Given the description of an element on the screen output the (x, y) to click on. 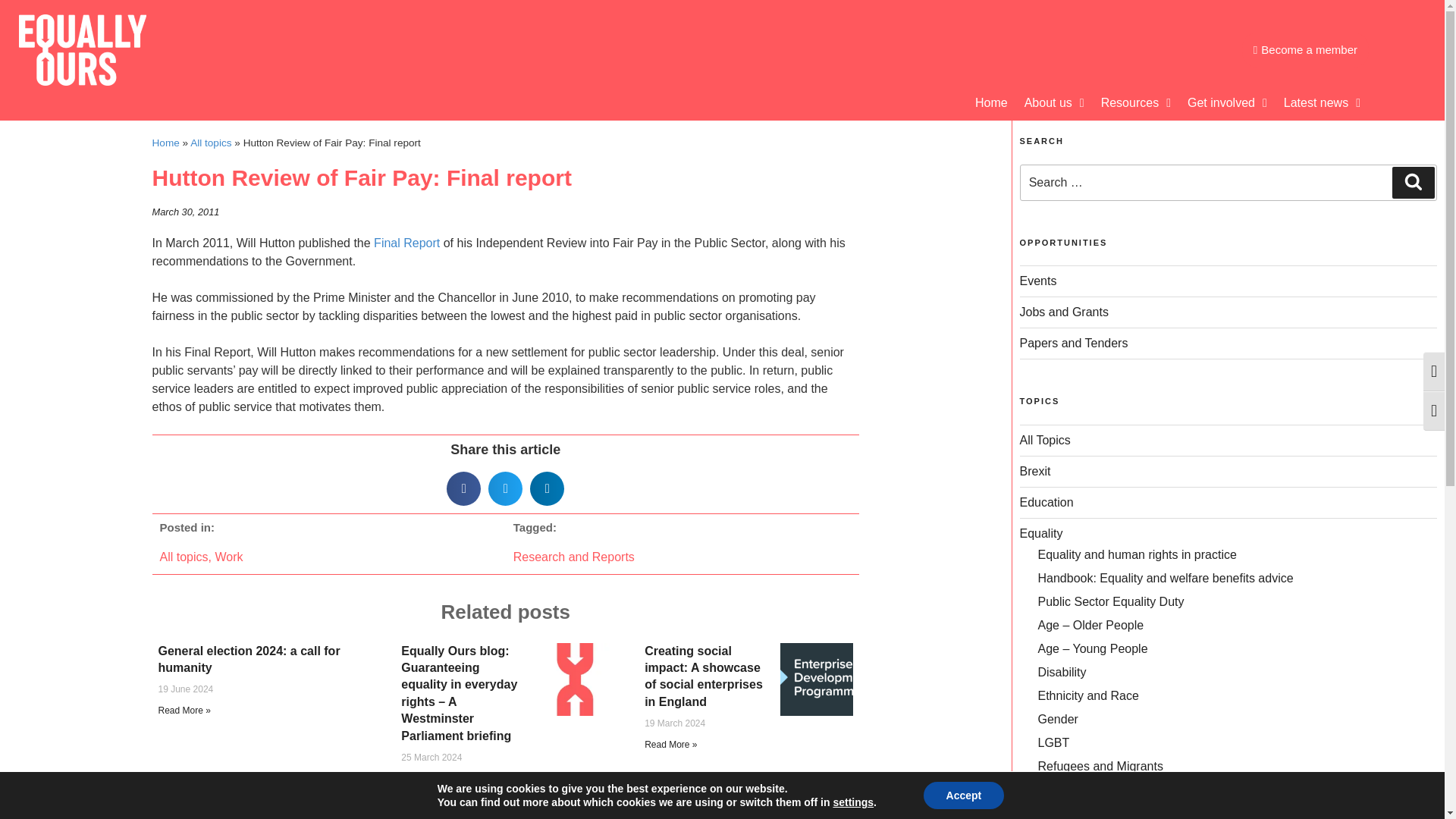
Latest news (1321, 102)
Become a member (1304, 49)
Get involved (1227, 102)
Resources (1136, 102)
Home (991, 102)
About us (1054, 102)
